Given the description of an element on the screen output the (x, y) to click on. 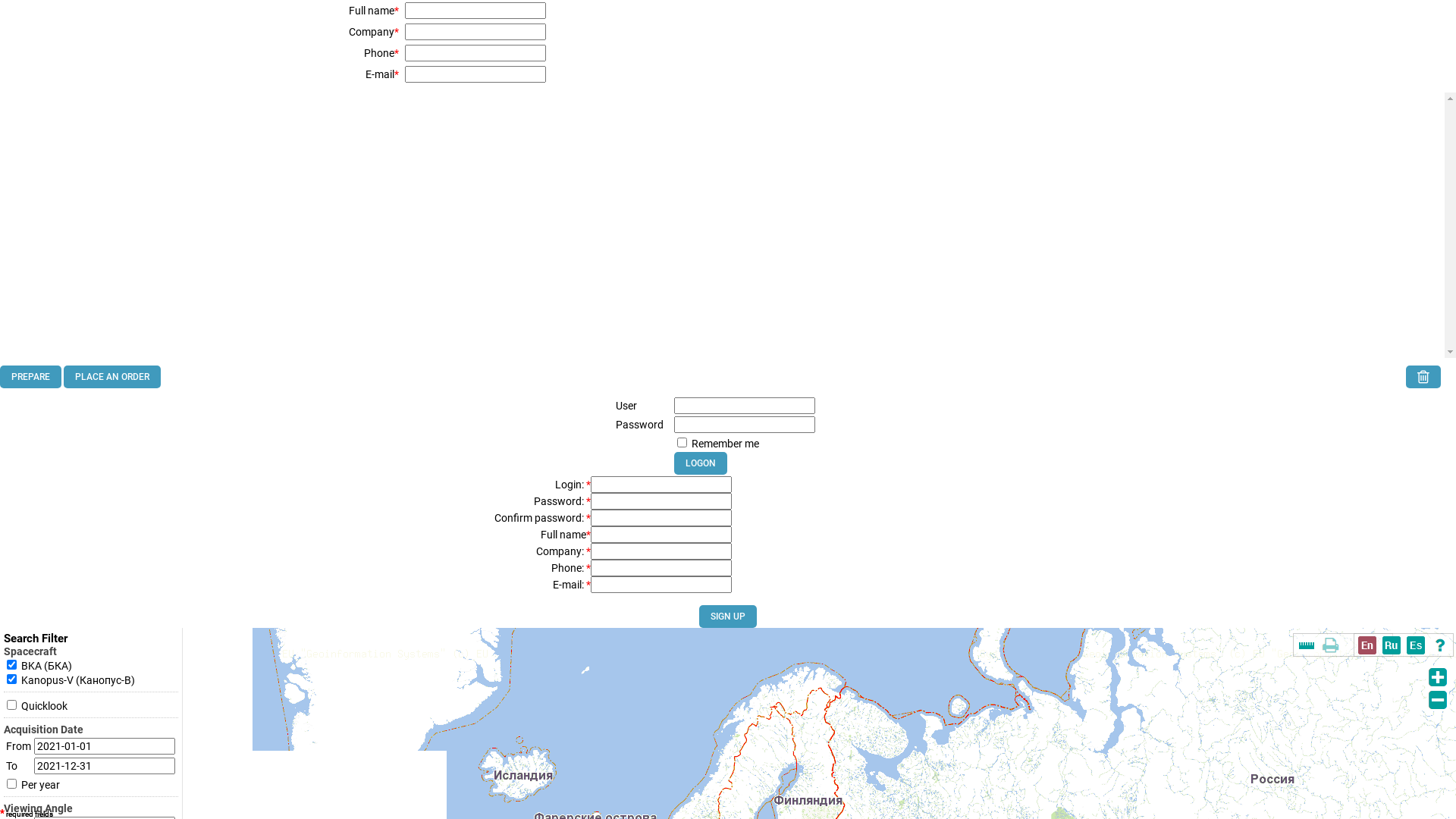
Spanish Element type: hover (1415, 645)
Sign up Element type: text (727, 616)
Prepare  Element type: text (30, 376)
Measured Element type: hover (1306, 645)
Help Element type: hover (1439, 645)
logon Element type: text (700, 462)
Print Element type: hover (1330, 645)
English Element type: hover (1367, 645)
Place an order Element type: text (111, 376)
